Given the description of an element on the screen output the (x, y) to click on. 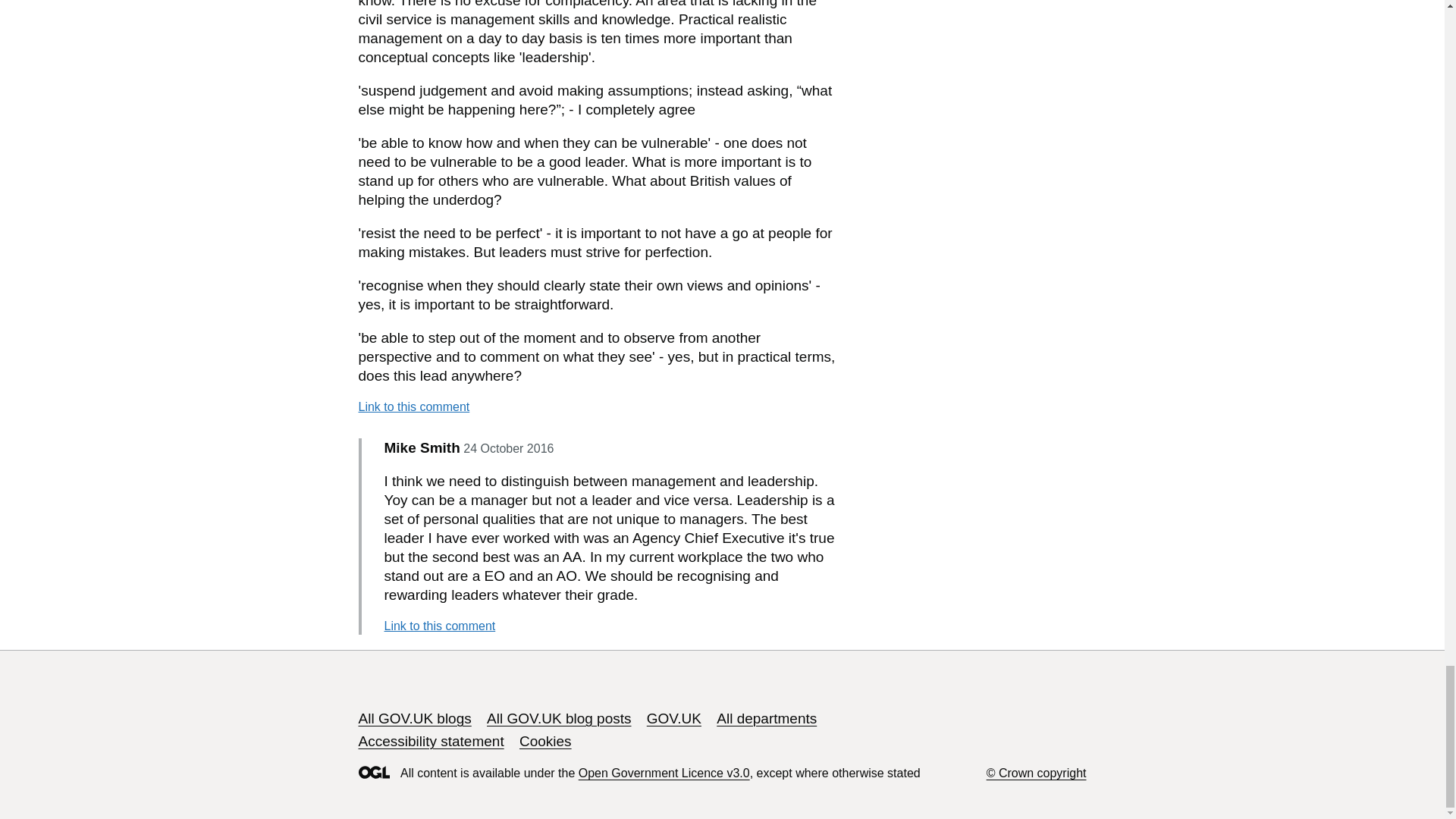
Link to this comment (413, 406)
Link to this comment (439, 626)
